Given the description of an element on the screen output the (x, y) to click on. 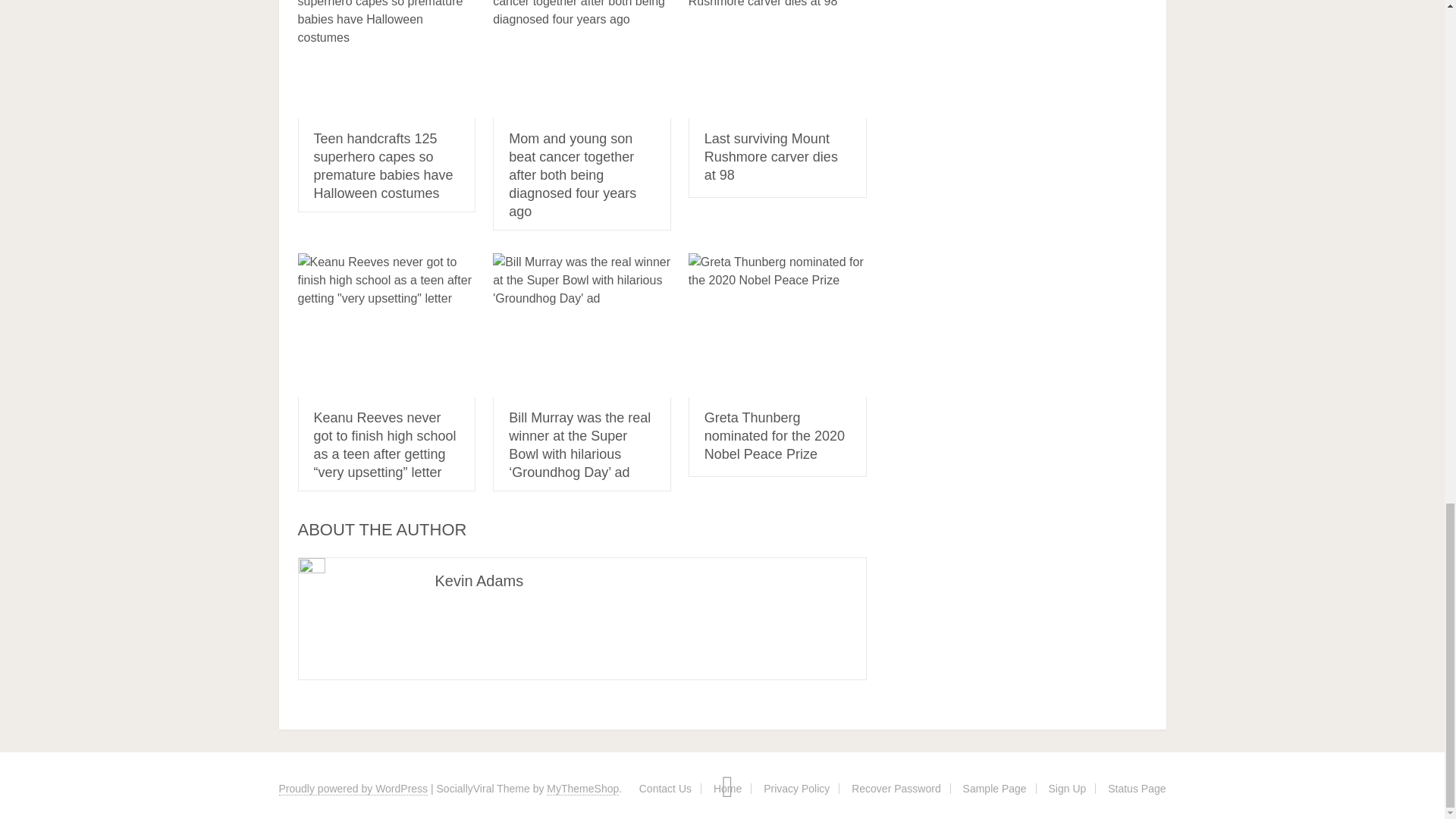
Last surviving Mount Rushmore carver dies at 98 (777, 58)
